Given the description of an element on the screen output the (x, y) to click on. 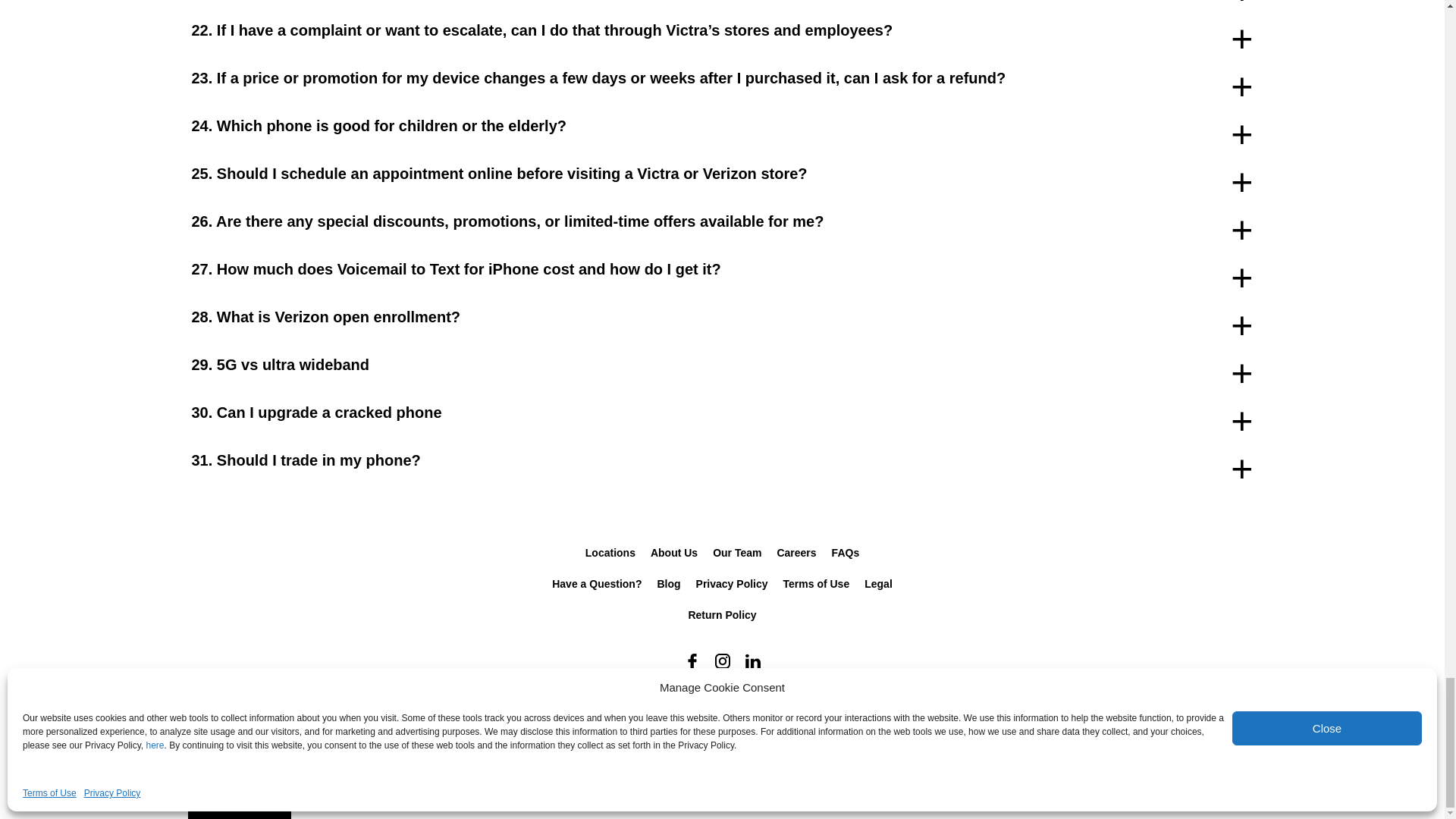
Instagram (721, 661)
Linkedin (751, 661)
Facebook (691, 661)
